Given the description of an element on the screen output the (x, y) to click on. 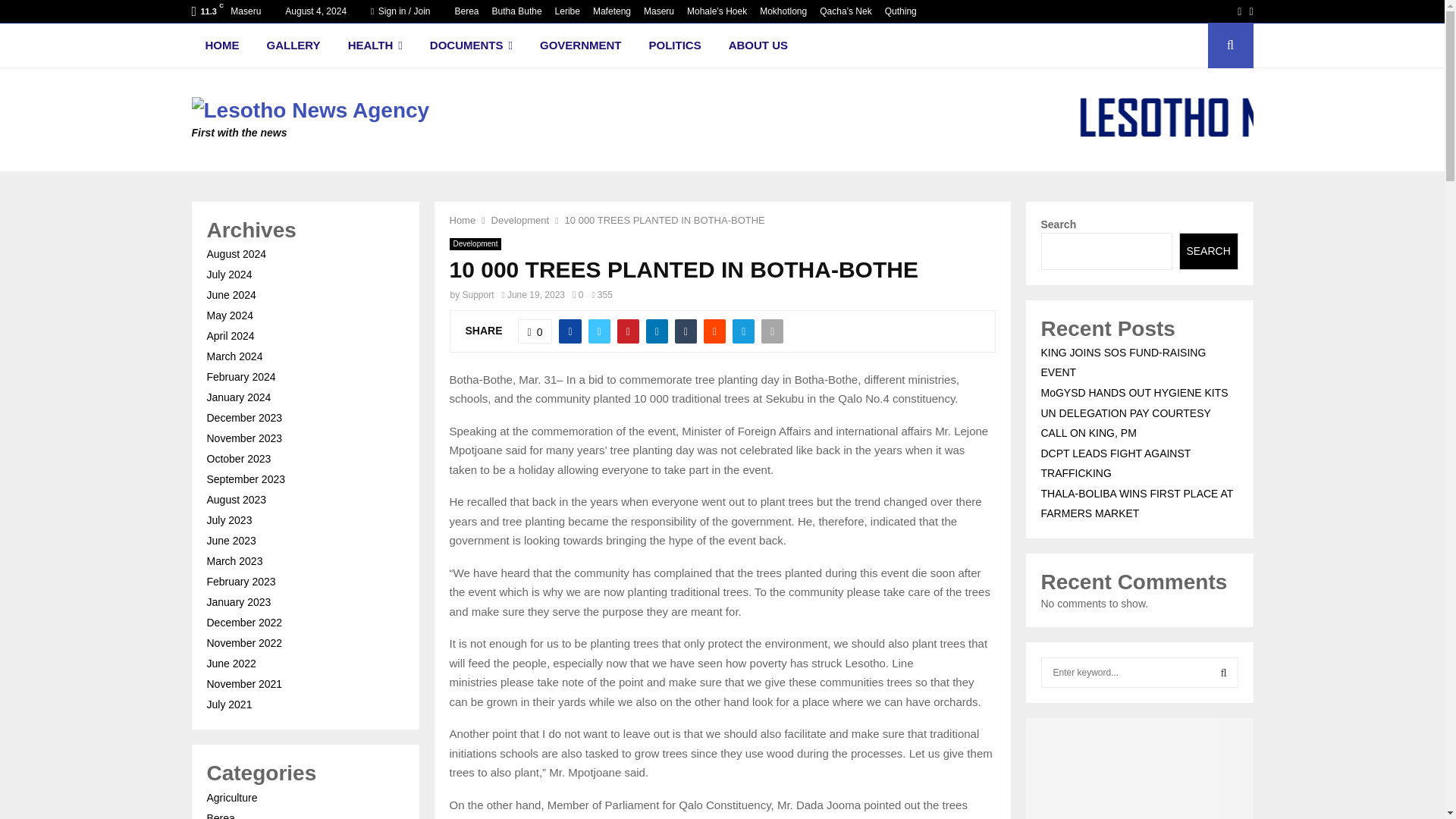
Berea (466, 11)
Mafeteng (611, 11)
HOME (220, 44)
Maseru (658, 11)
Login to your account (722, 293)
Mokhotlong (783, 11)
Quthing (901, 11)
Sign up new account (722, 415)
GALLERY (293, 44)
HEALTH (375, 44)
Like (535, 331)
Leribe (566, 11)
Butha Buthe (516, 11)
